Given the description of an element on the screen output the (x, y) to click on. 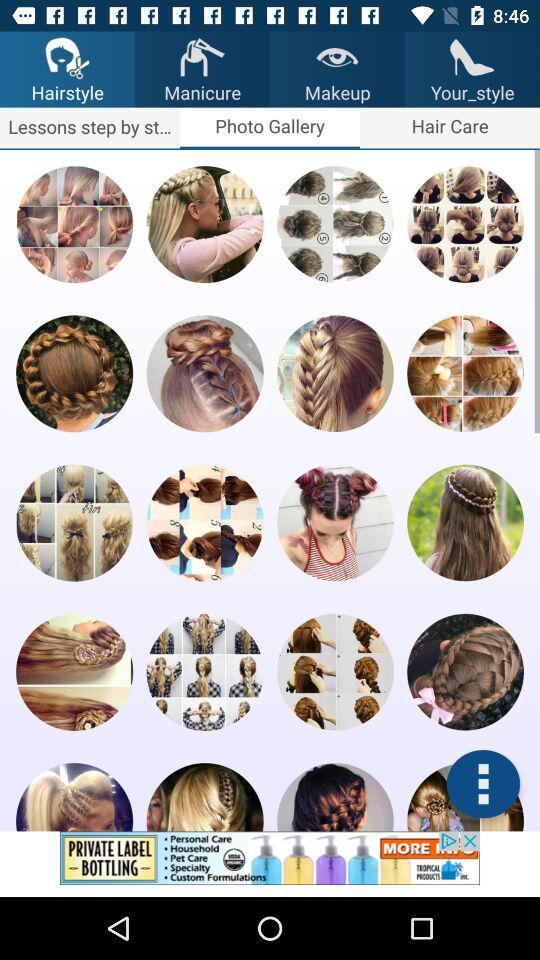
select option (335, 522)
